Given the description of an element on the screen output the (x, y) to click on. 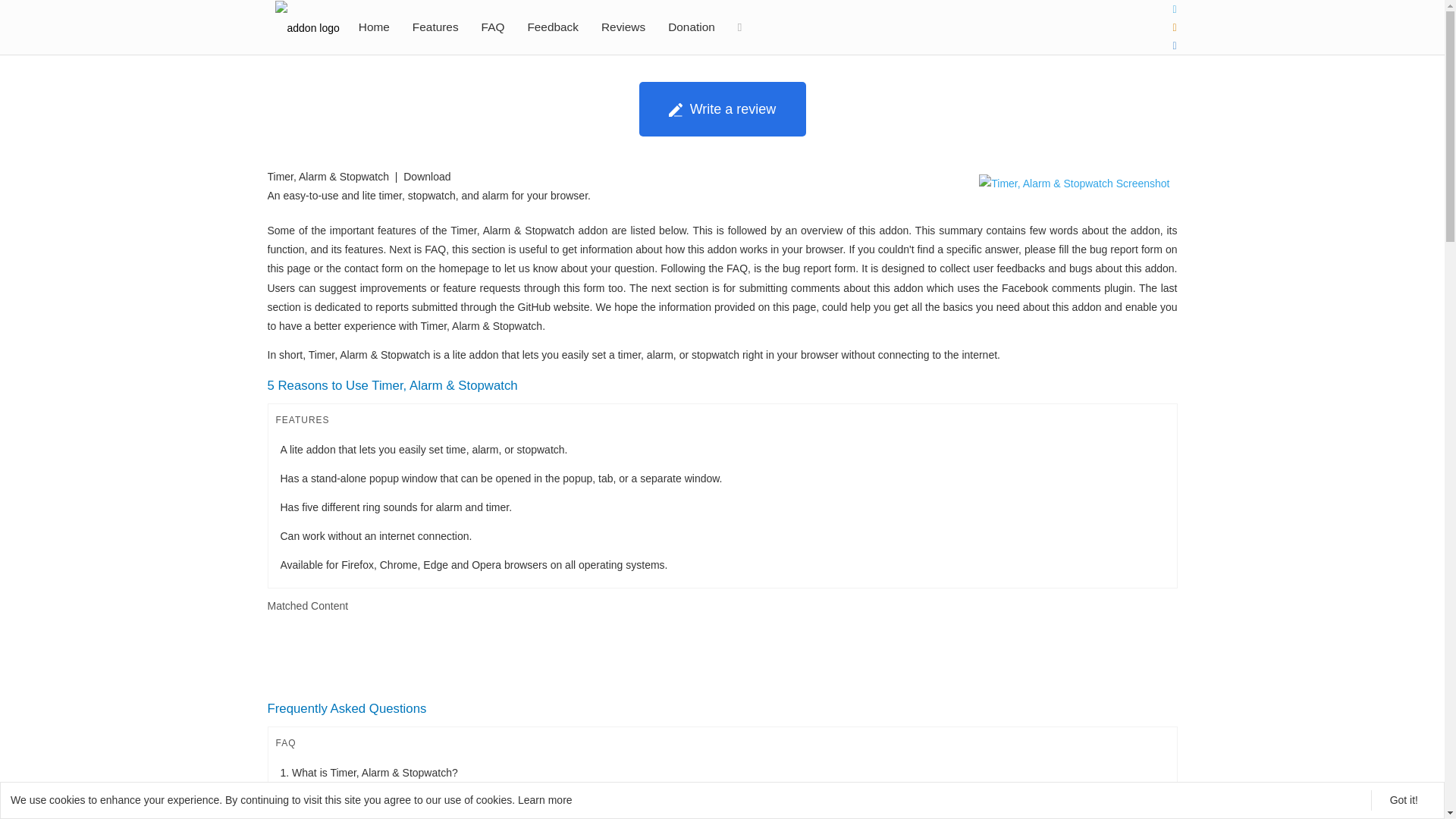
Feedback (552, 27)
Home (374, 27)
Reporting bugs and issues (552, 27)
Reviews (622, 27)
Addon Screenshot (1073, 186)
Homepage (374, 27)
Features (435, 27)
Write a review (722, 108)
Reviews (622, 27)
Feedback (552, 27)
